Given the description of an element on the screen output the (x, y) to click on. 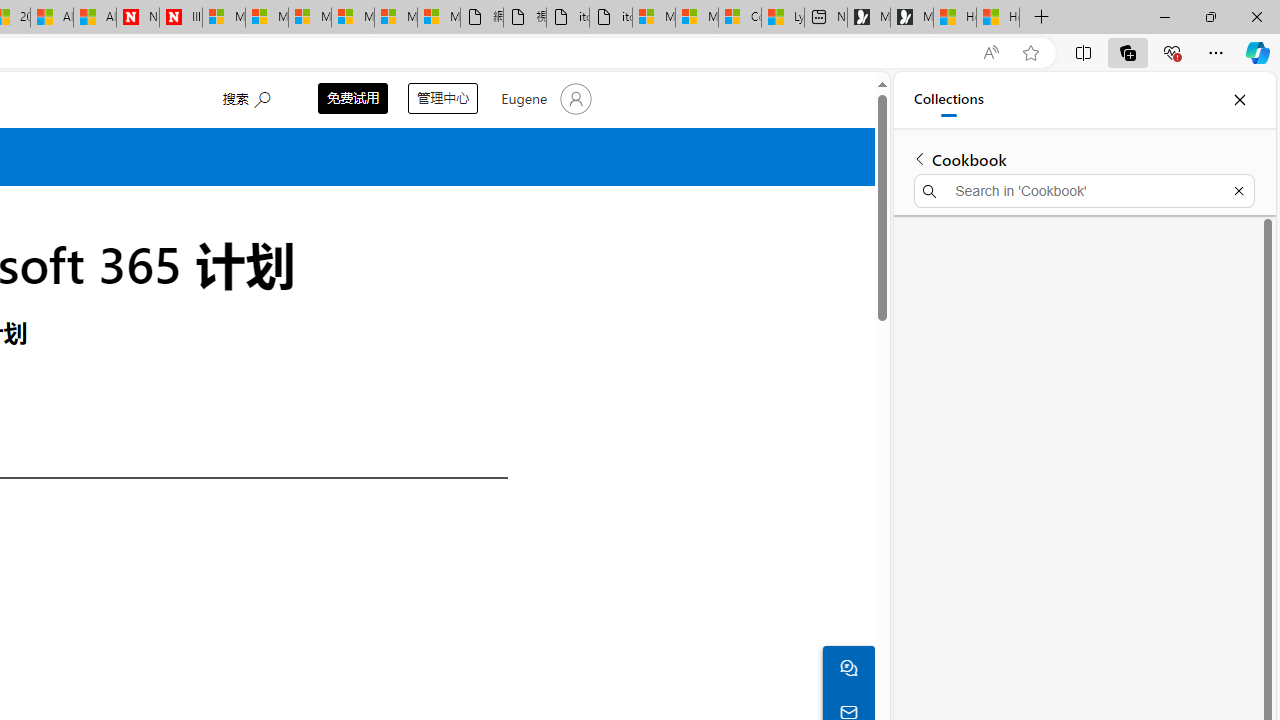
Search in 'Cookbook' (1084, 190)
Exit search (1238, 190)
Back to list of collections (920, 158)
